Given the description of an element on the screen output the (x, y) to click on. 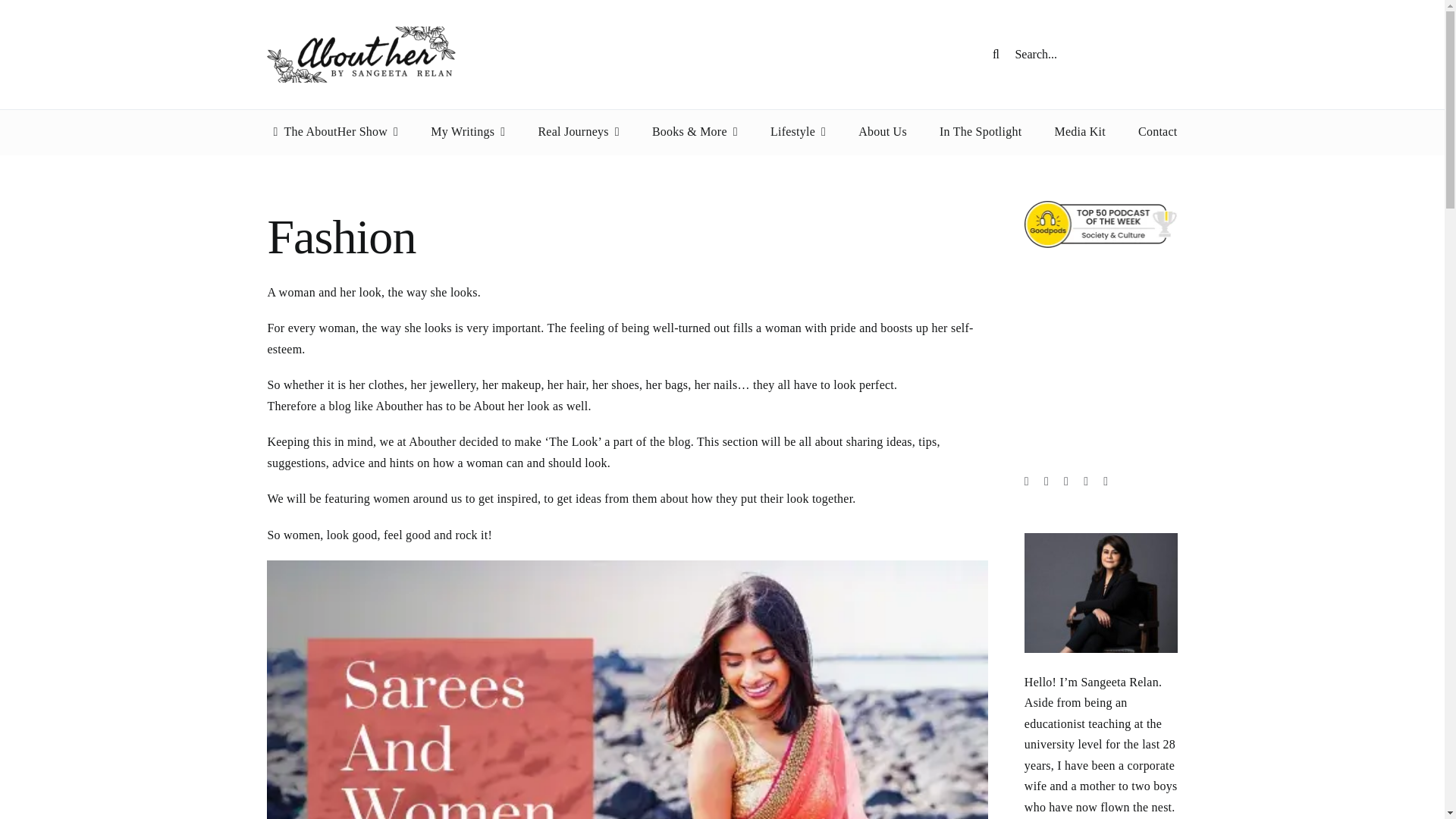
Real Journeys (577, 132)
Lifestyle (797, 132)
The AboutHer Show (331, 132)
My Writings (467, 132)
